Given the description of an element on the screen output the (x, y) to click on. 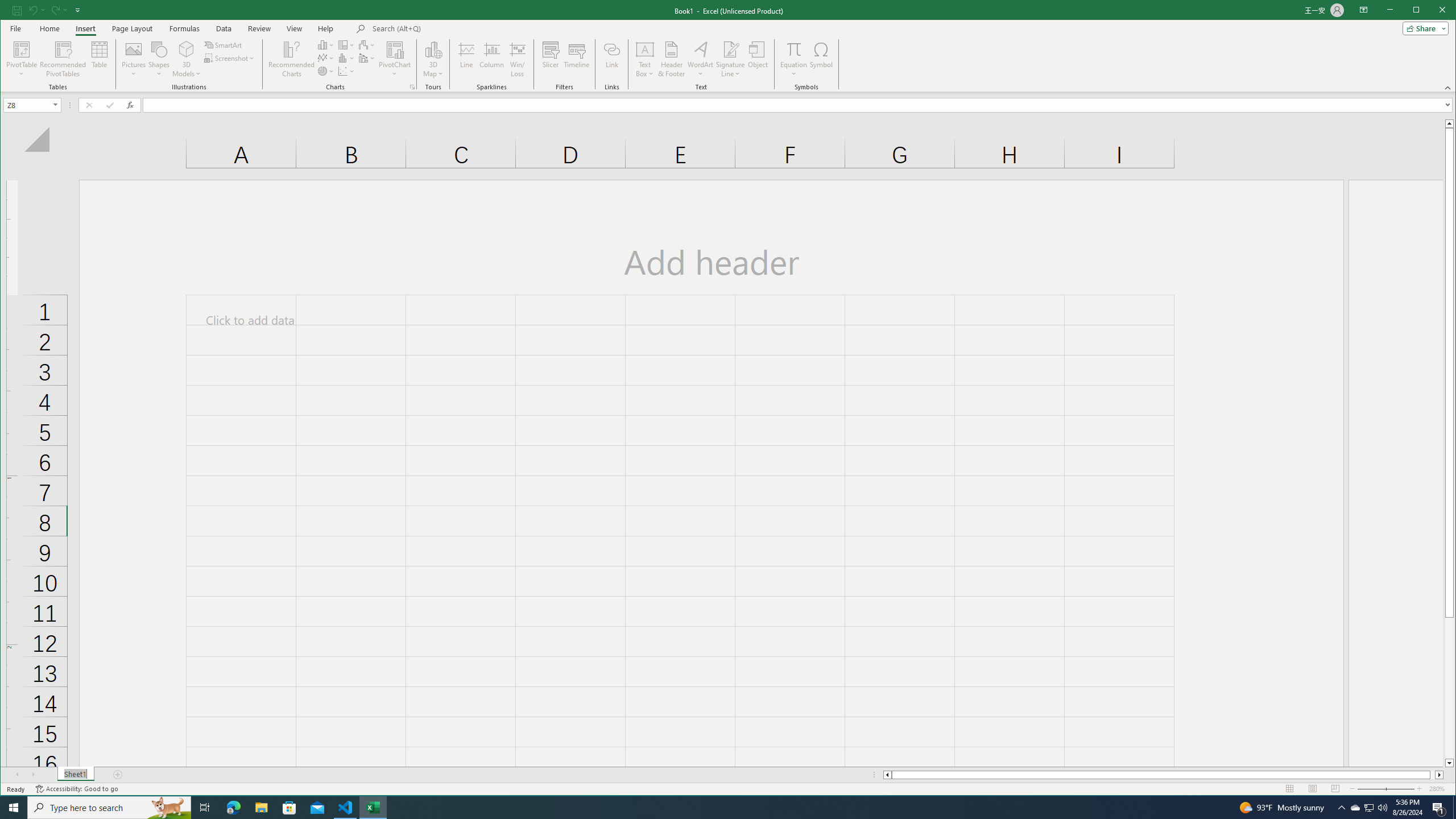
Microsoft Store (289, 807)
Draw Horizontal Text Box (644, 48)
Header & Footer... (670, 59)
Maximize (1432, 11)
